Given the description of an element on the screen output the (x, y) to click on. 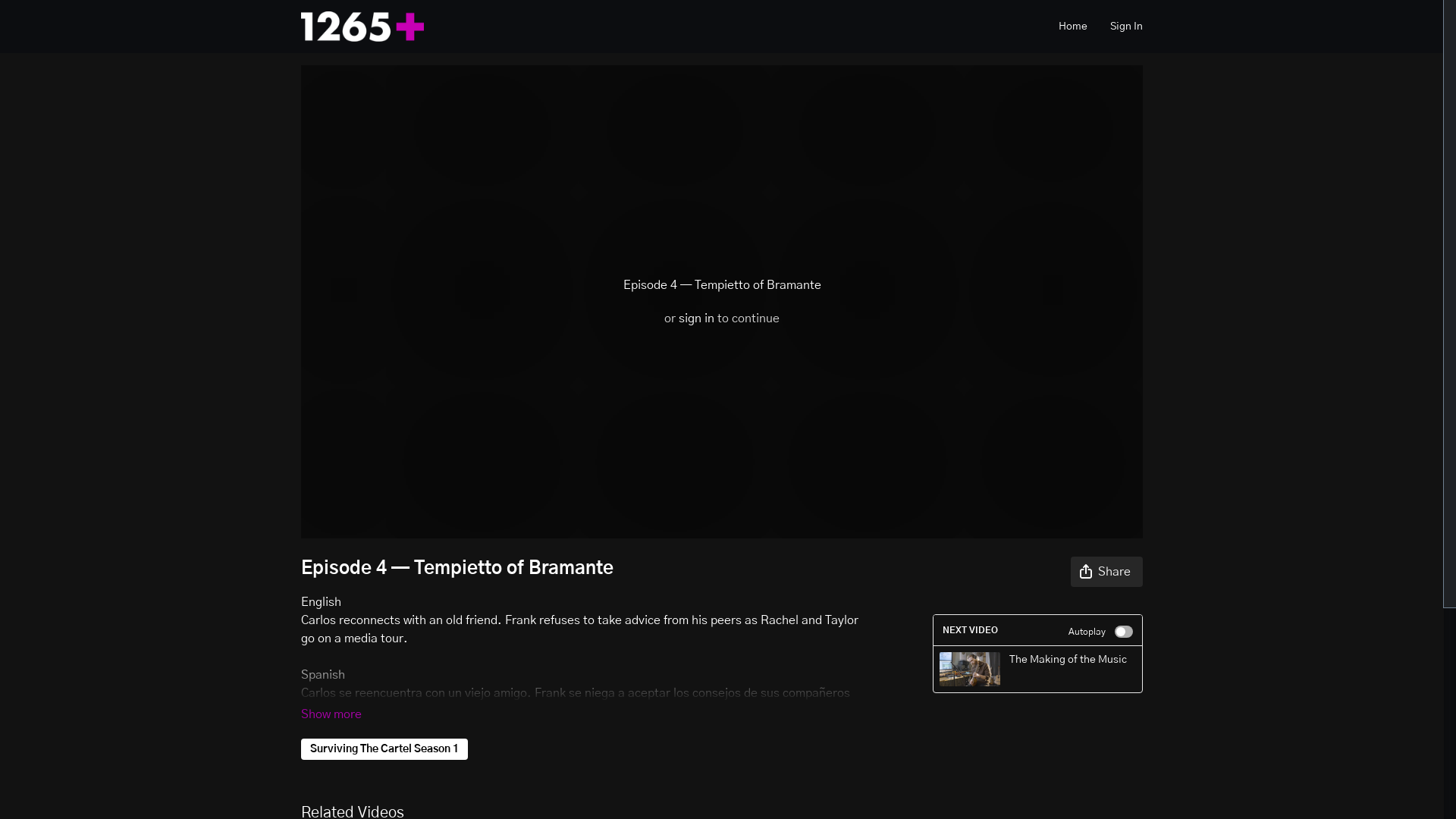
sign in Element type: text (696, 318)
Home Element type: text (1072, 26)
Surviving The Cartel Season 1 Element type: text (384, 748)
Sign In Element type: text (1126, 26)
The Making of the Music Element type: text (1037, 669)
